Given the description of an element on the screen output the (x, y) to click on. 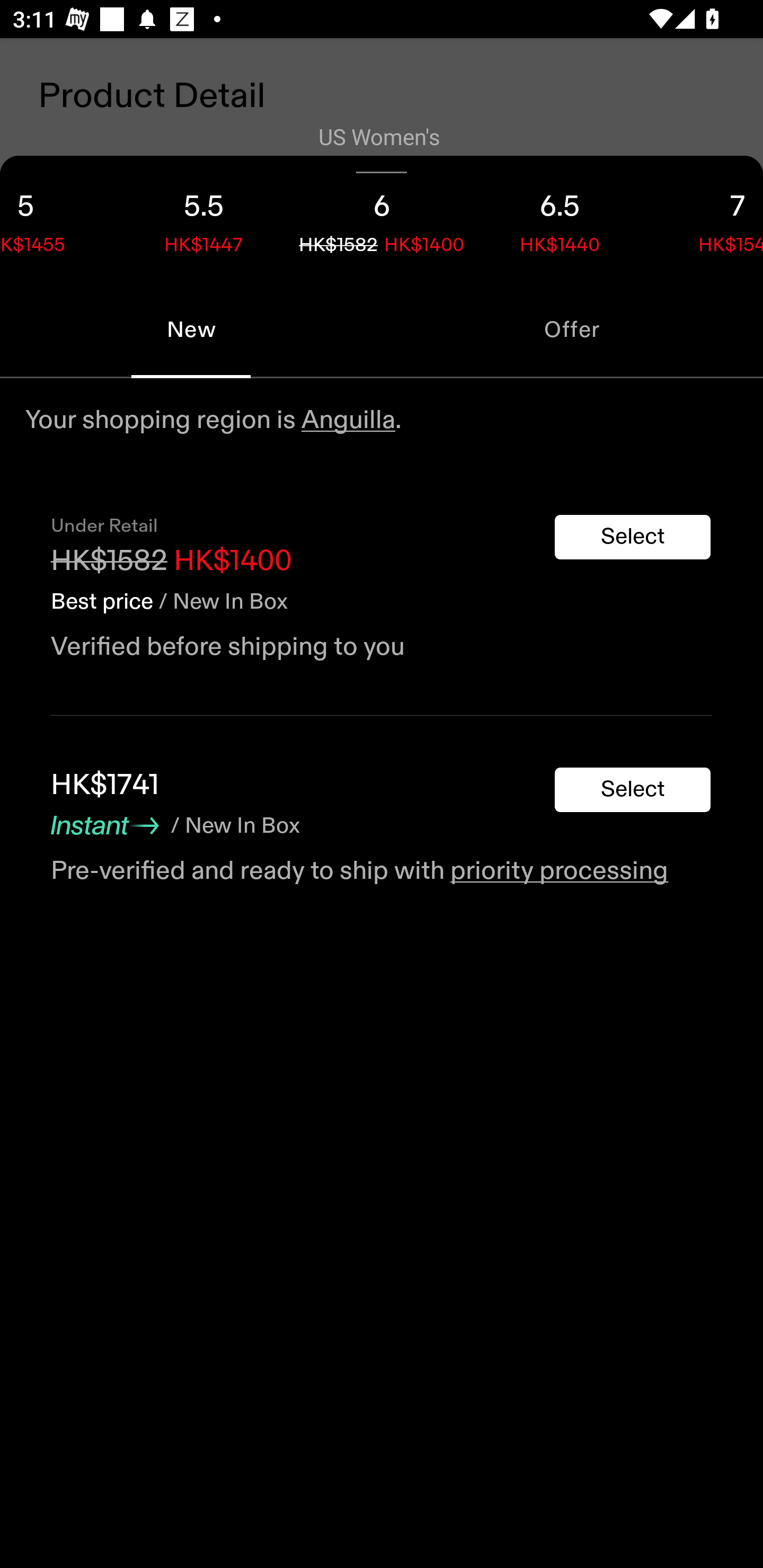
5 HK$1455 (57, 218)
5.5 HK$1447 (203, 218)
6 HK$1582 HK$1400 (381, 218)
6.5 HK$1440 (559, 218)
7 HK$1542 (705, 218)
Offer (572, 329)
Select (632, 536)
Sell (152, 606)
HK$1741 (104, 785)
Select (632, 789)
